Given the description of an element on the screen output the (x, y) to click on. 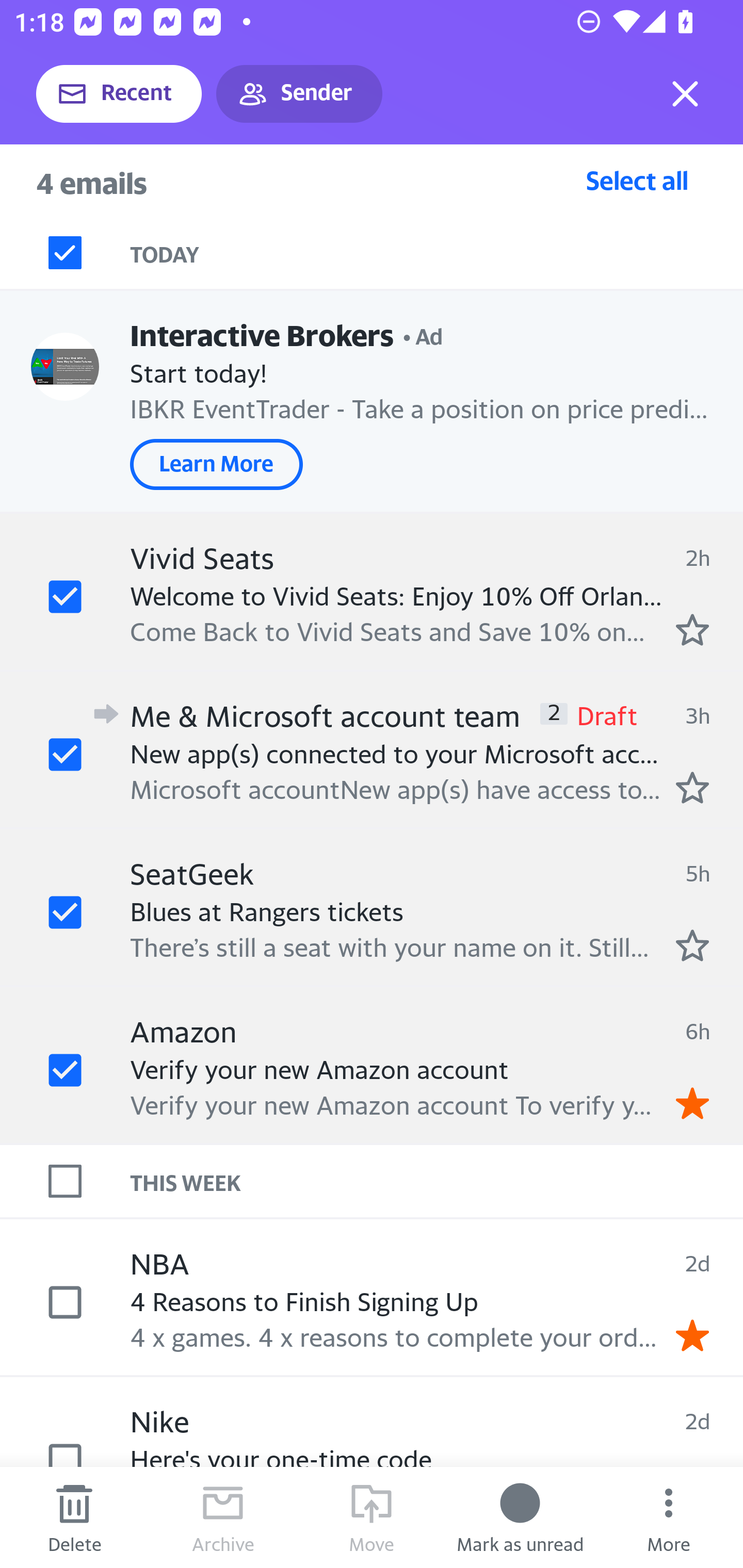
Sender (299, 93)
Exit selection mode (684, 93)
Select all (637, 180)
TODAY (436, 252)
Mark as starred. (692, 629)
Mark as starred. (692, 787)
Mark as starred. (692, 944)
Remove star. (692, 1103)
THIS WEEK (436, 1181)
Remove star. (692, 1335)
Delete (74, 1517)
Archive (222, 1517)
Move (371, 1517)
Mark as unread (519, 1517)
More (668, 1517)
